Given the description of an element on the screen output the (x, y) to click on. 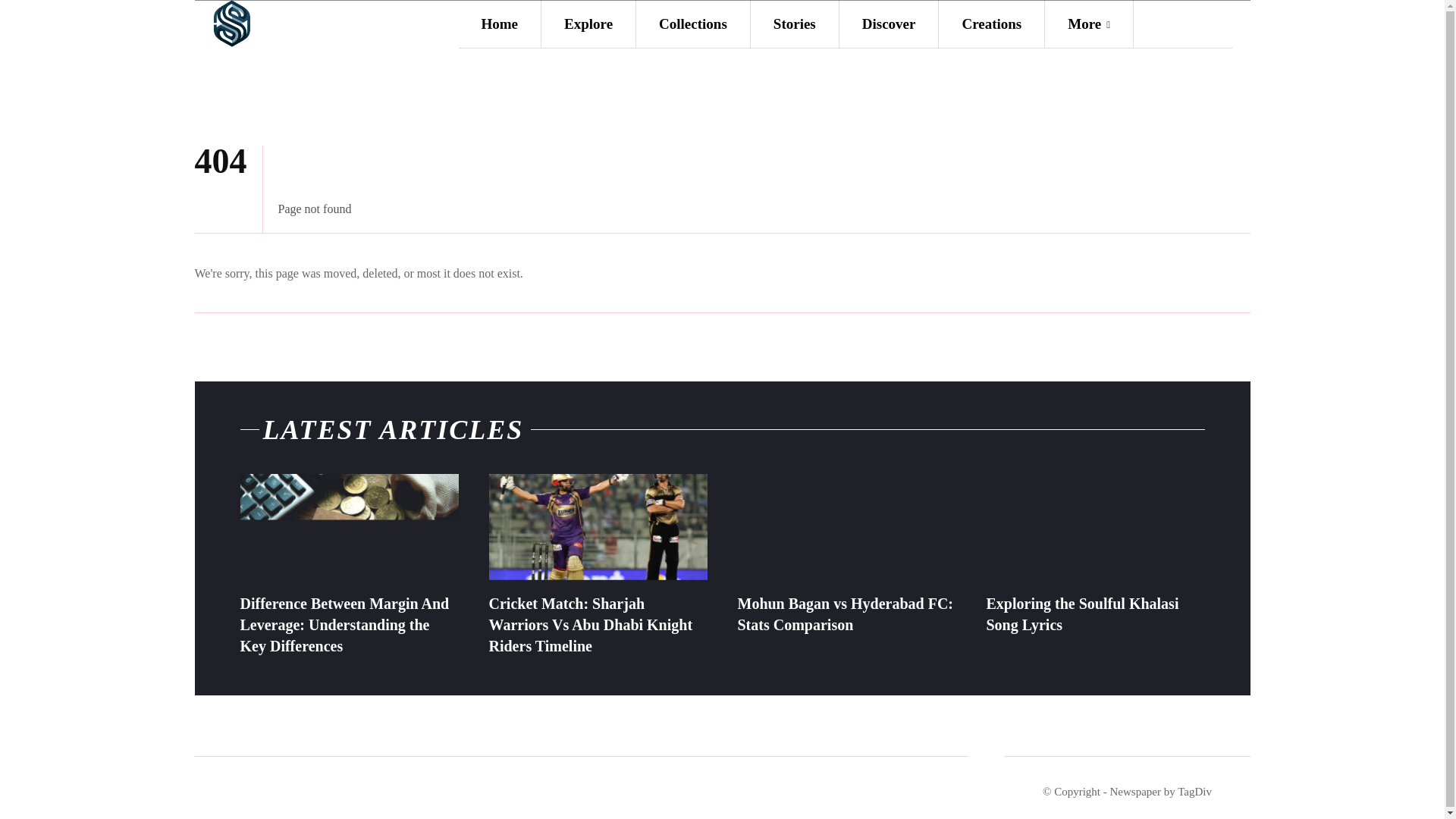
Stories (794, 23)
Exploring the Soulful Khalasi Song Lyrics (1094, 528)
Discover (889, 23)
Mohun Bagan vs Hyderabad FC: Stats Comparison (845, 528)
Explore (587, 23)
More (1088, 23)
Exploring the Soulful Khalasi Song Lyrics (1081, 614)
Creations (991, 23)
Mohun Bagan vs Hyderabad FC: Stats Comparison (844, 614)
Home (499, 23)
Collections (692, 23)
